Given the description of an element on the screen output the (x, y) to click on. 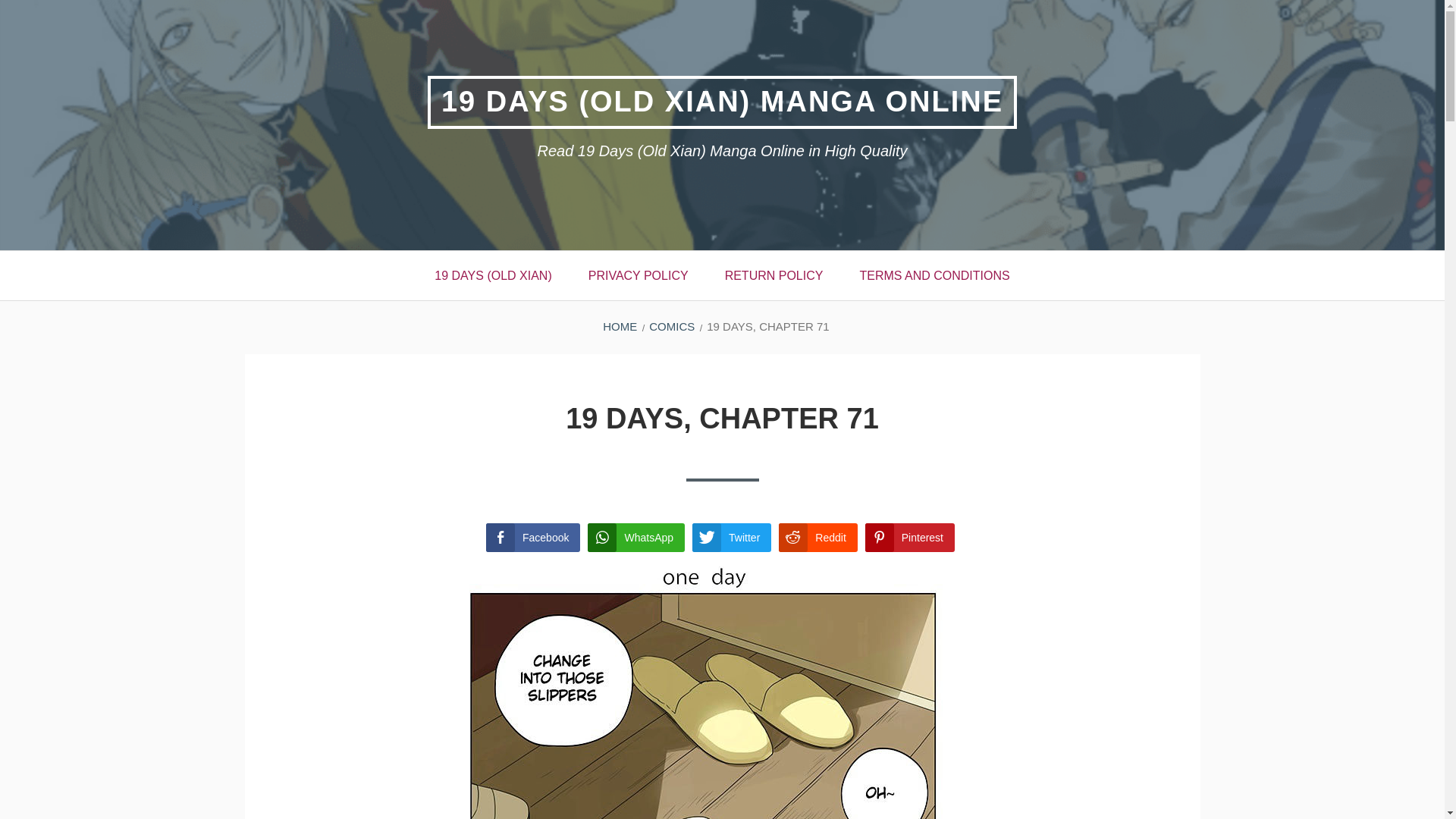
19 DAYS (OLD XIAN) Element type: text (492, 275)
WhatsApp Element type: text (635, 537)
Reddit Element type: text (817, 537)
PRIVACY POLICY Element type: text (638, 275)
COMICS Element type: text (671, 326)
RETURN POLICY Element type: text (773, 275)
19 DAYS (OLD XIAN) MANGA ONLINE Element type: text (721, 101)
Facebook Element type: text (533, 537)
Pinterest Element type: text (909, 537)
HOME Element type: text (619, 326)
TERMS AND CONDITIONS Element type: text (933, 275)
Twitter Element type: text (731, 537)
